Given the description of an element on the screen output the (x, y) to click on. 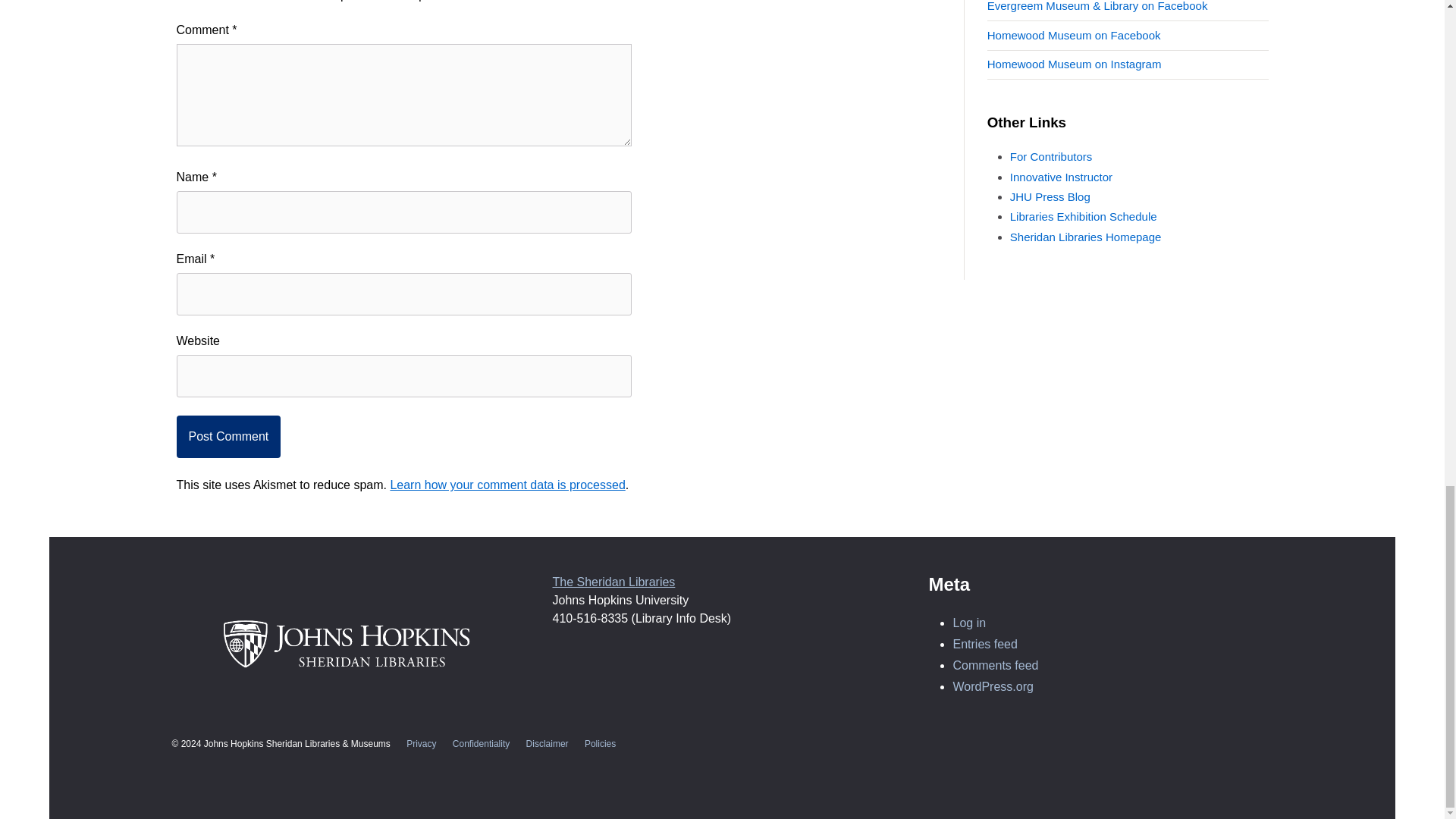
Learn how your comment data is processed (507, 484)
Post Comment (228, 436)
Post Comment (228, 436)
